Given the description of an element on the screen output the (x, y) to click on. 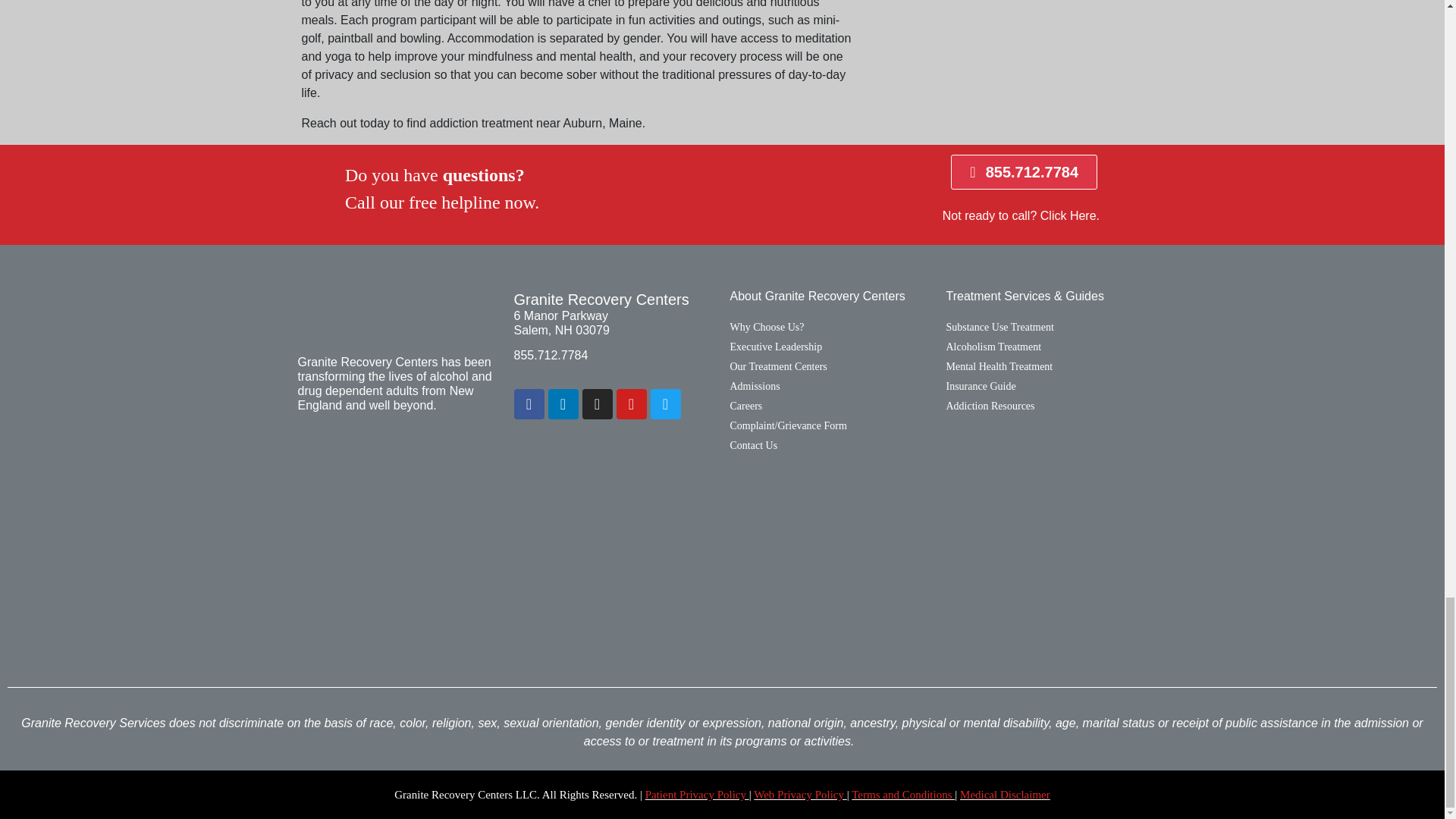
Verify LegitScript Approval (649, 563)
